Given the description of an element on the screen output the (x, y) to click on. 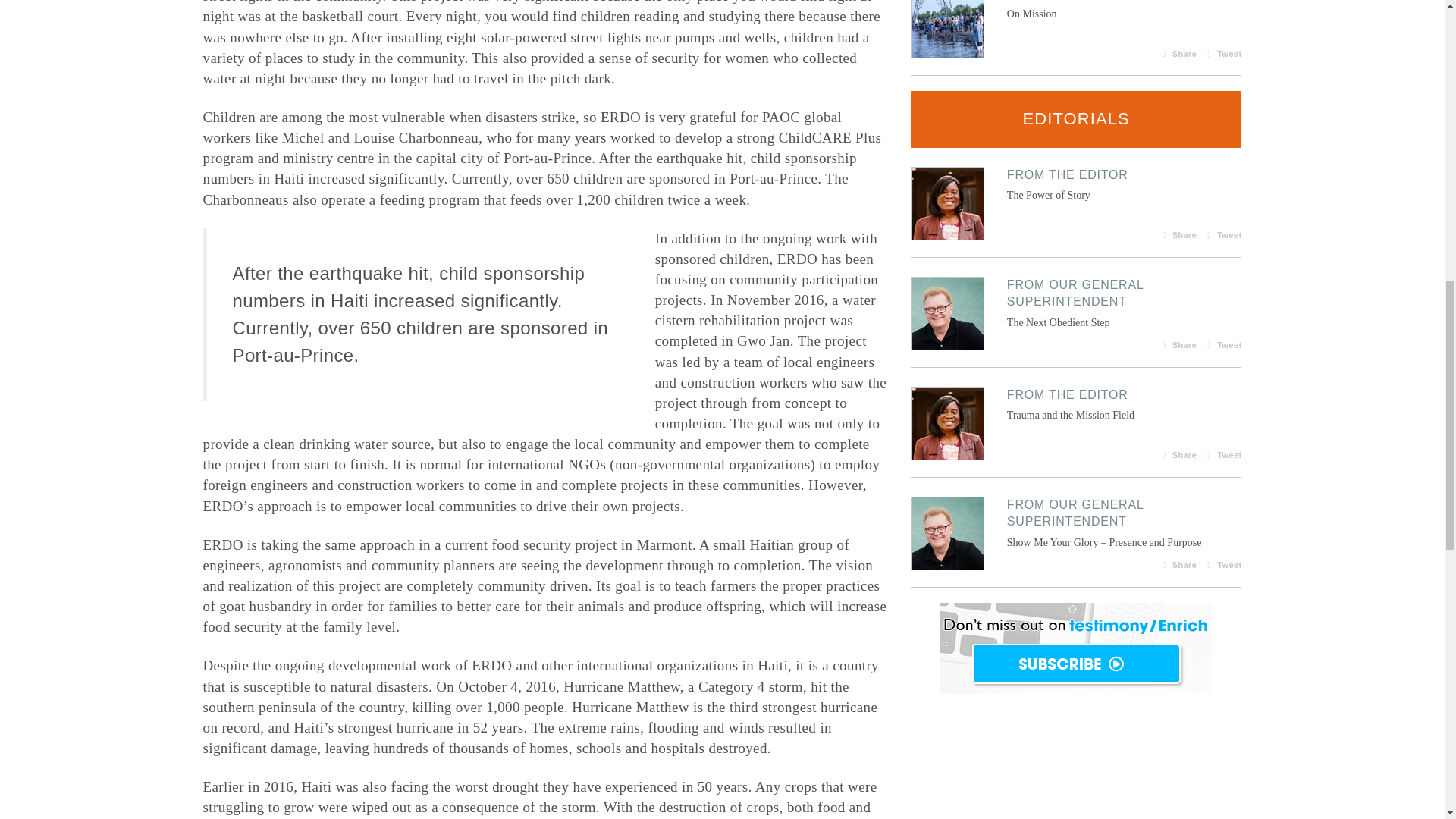
Tweet (1076, 184)
Share (1220, 54)
Subscribe (1175, 54)
